Given the description of an element on the screen output the (x, y) to click on. 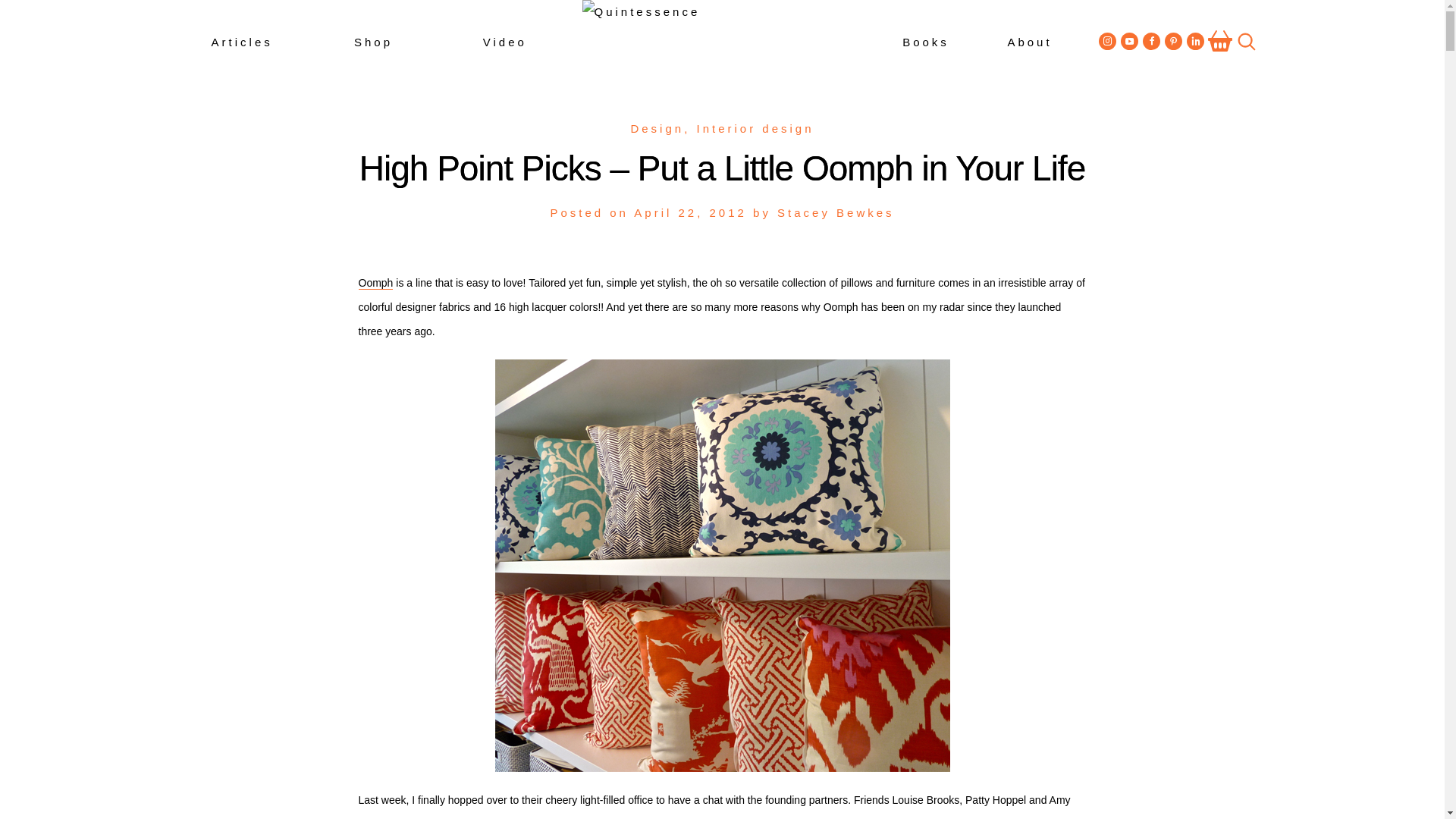
Shop (372, 42)
Facebook (1151, 40)
Instagram (1107, 40)
Pinterest (1173, 40)
YouTube (1129, 40)
LinkedIn (1195, 40)
Articles (241, 42)
Search (1240, 43)
